Given the description of an element on the screen output the (x, y) to click on. 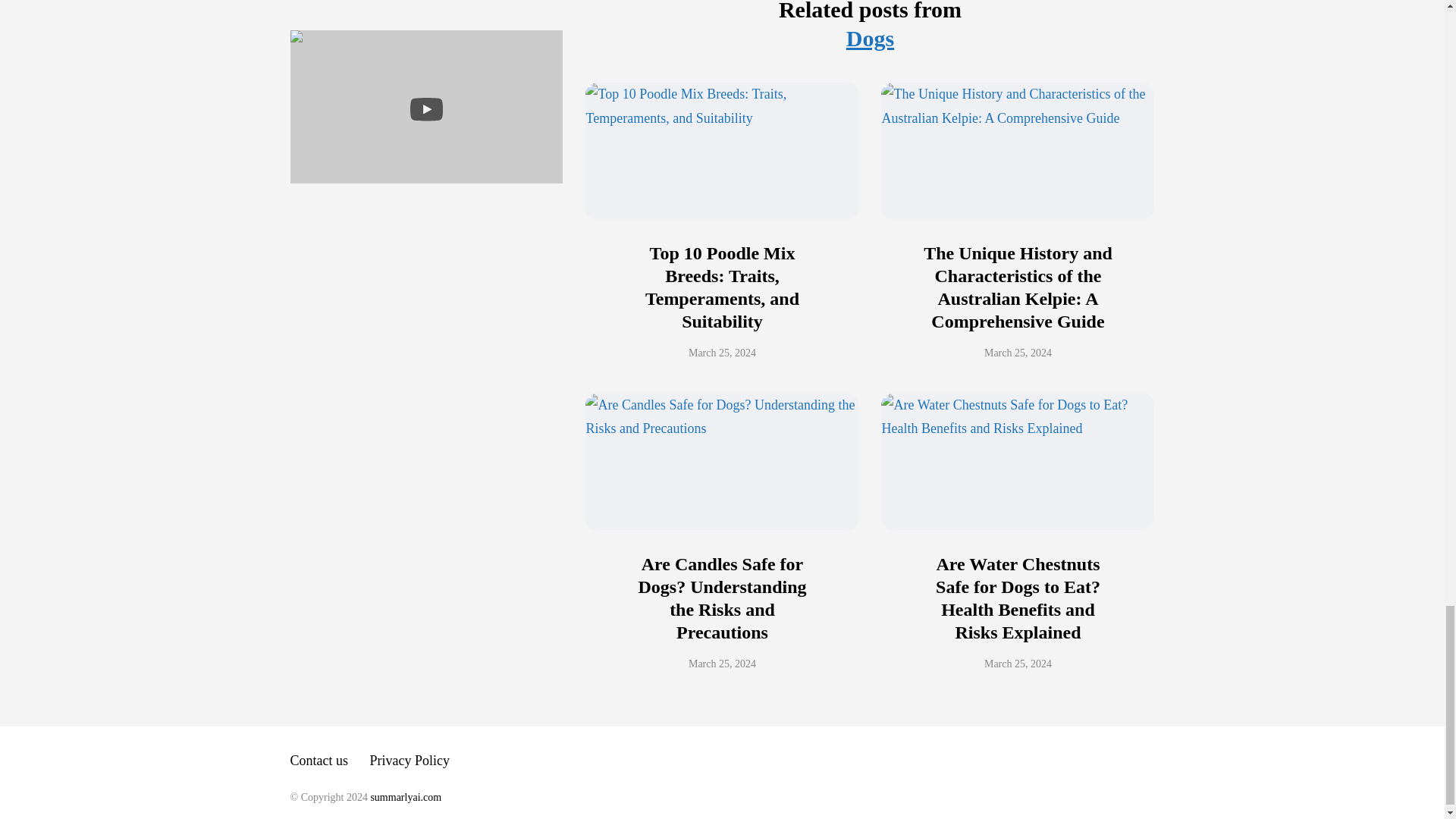
Dogs (869, 37)
